Given the description of an element on the screen output the (x, y) to click on. 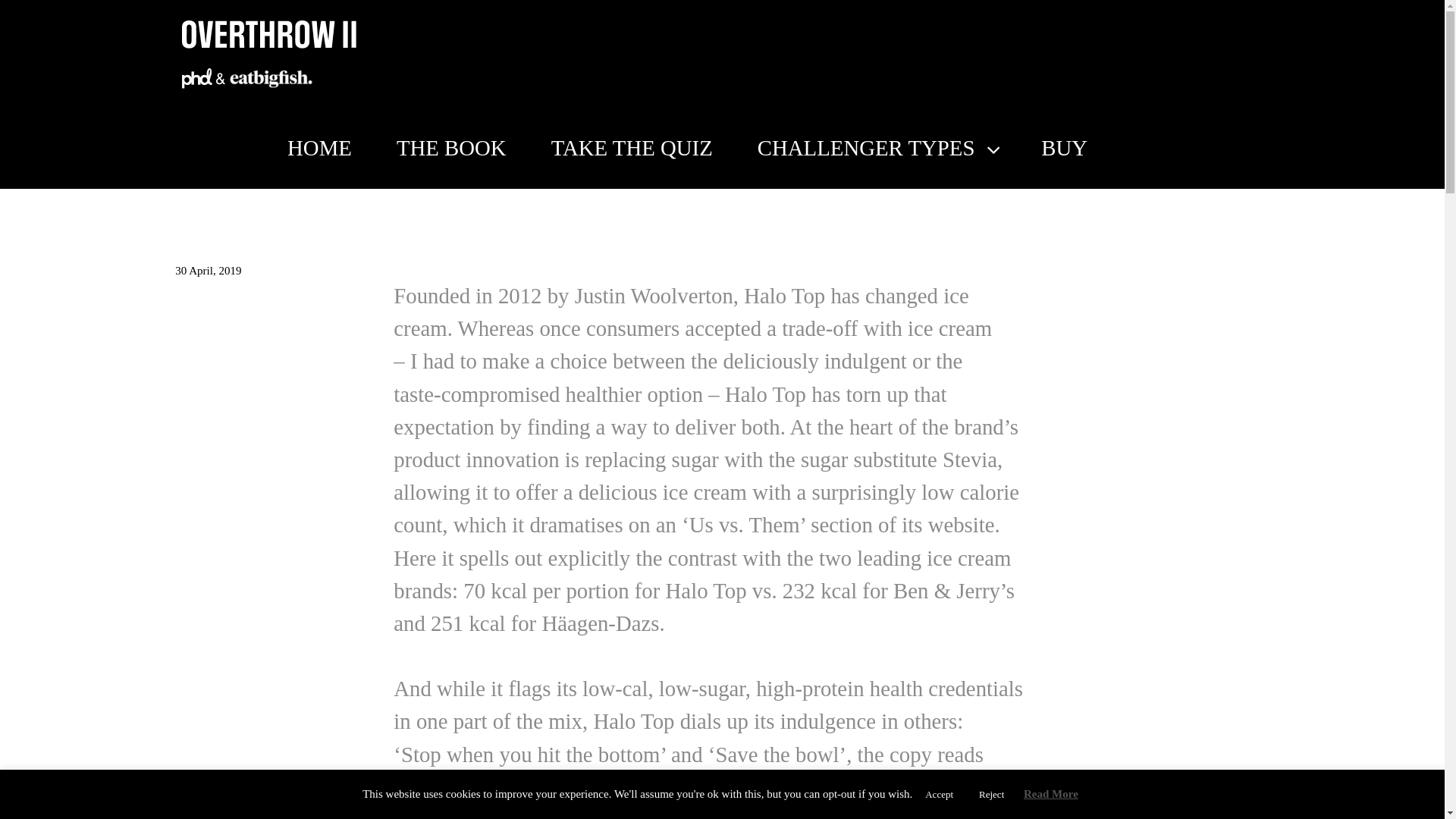
HOME (319, 147)
CHALLENGER TYPES (876, 147)
TAKE THE QUIZ (632, 147)
BUY (1064, 147)
THE BOOK (451, 147)
Read More (1050, 793)
Accept (938, 793)
Reject (991, 793)
